Given the description of an element on the screen output the (x, y) to click on. 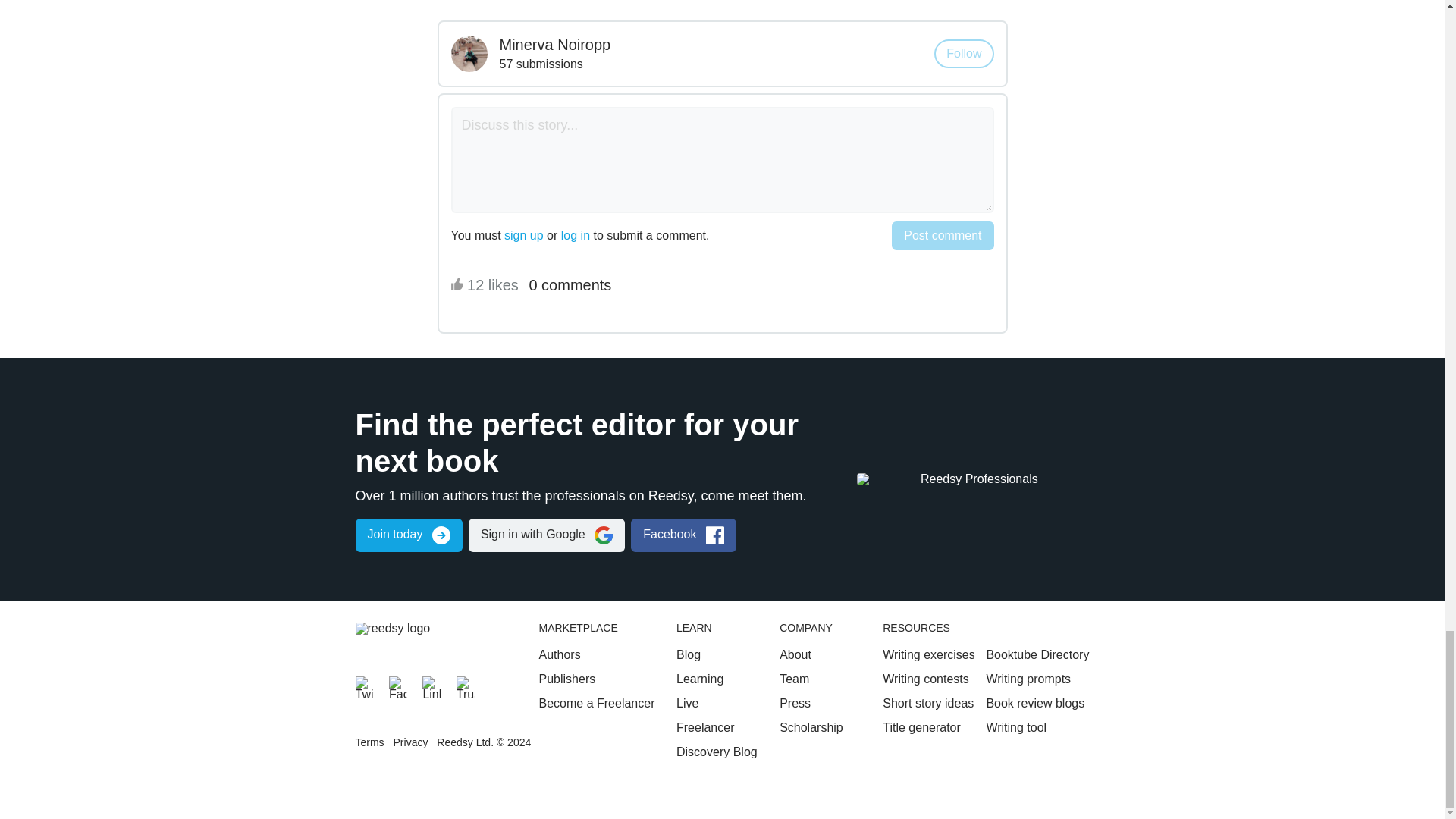
LinkedIn (431, 685)
Post comment (941, 235)
Sign in with Google (546, 535)
Trustpilot (465, 685)
Facebook (397, 685)
Sign up (408, 535)
Twitter (363, 685)
Sign in with Facebook (683, 535)
